Given the description of an element on the screen output the (x, y) to click on. 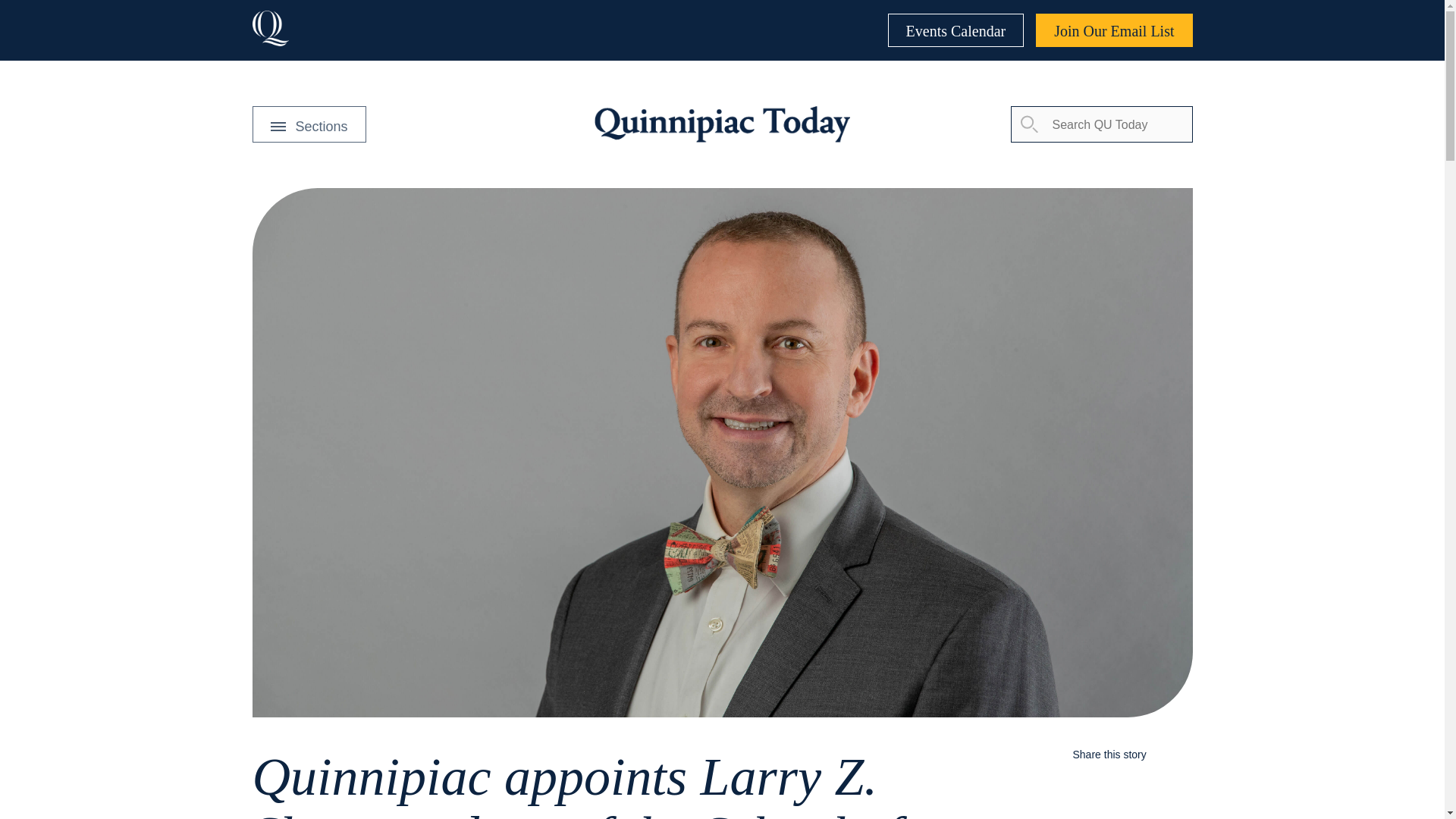
Sections (308, 124)
Quinnipiac Today (721, 124)
Join Our Email List (1113, 29)
Events Calendar (956, 29)
